Given the description of an element on the screen output the (x, y) to click on. 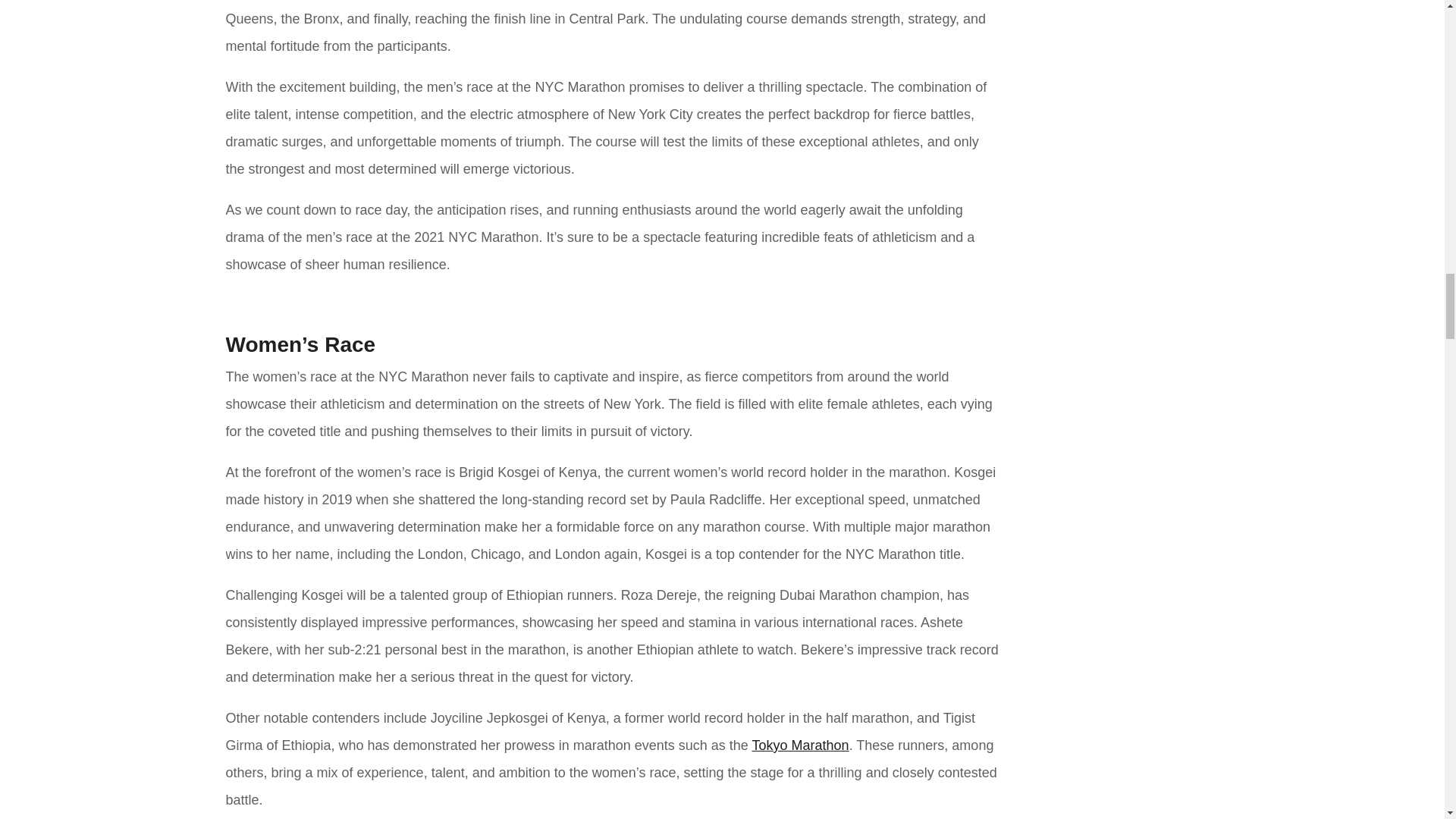
Tokyo Marathon (800, 744)
